Given the description of an element on the screen output the (x, y) to click on. 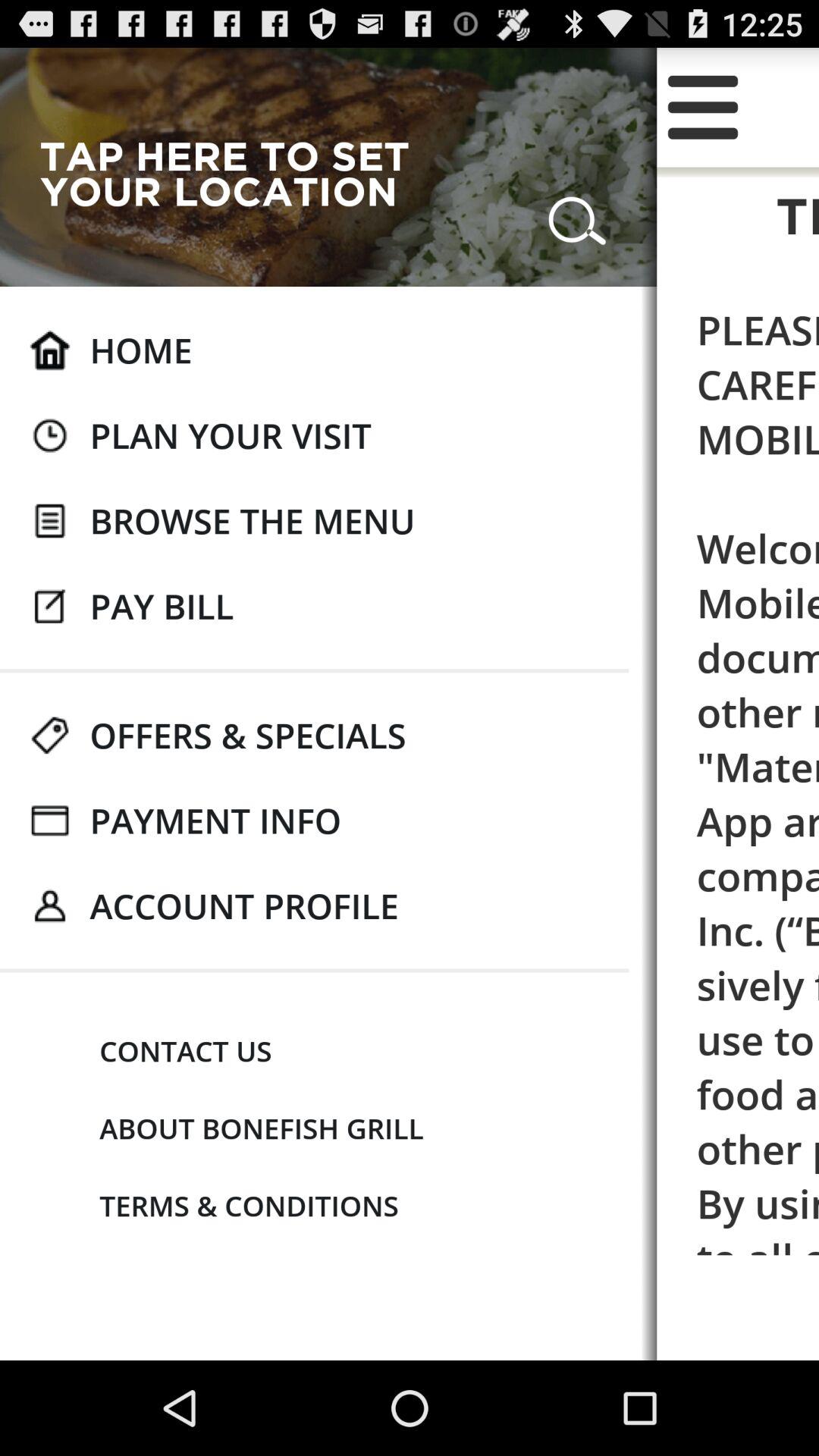
turn off app to the left of please read these item (247, 735)
